Given the description of an element on the screen output the (x, y) to click on. 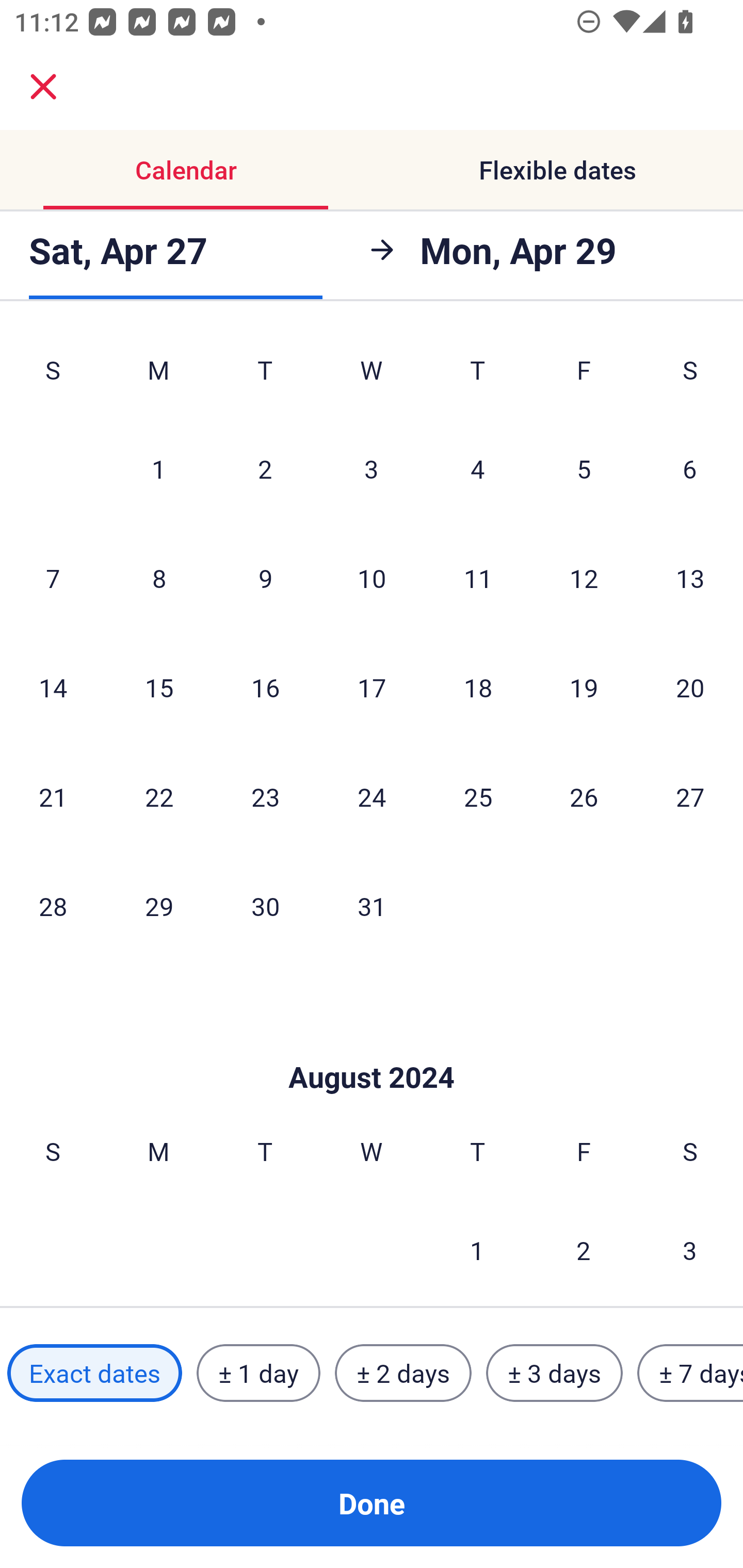
close. (43, 86)
Flexible dates (557, 170)
1 Monday, July 1, 2024 (158, 468)
2 Tuesday, July 2, 2024 (264, 468)
3 Wednesday, July 3, 2024 (371, 468)
4 Thursday, July 4, 2024 (477, 468)
5 Friday, July 5, 2024 (583, 468)
6 Saturday, July 6, 2024 (689, 468)
7 Sunday, July 7, 2024 (53, 577)
8 Monday, July 8, 2024 (159, 577)
9 Tuesday, July 9, 2024 (265, 577)
10 Wednesday, July 10, 2024 (371, 577)
11 Thursday, July 11, 2024 (477, 577)
12 Friday, July 12, 2024 (584, 577)
13 Saturday, July 13, 2024 (690, 577)
14 Sunday, July 14, 2024 (53, 687)
15 Monday, July 15, 2024 (159, 687)
16 Tuesday, July 16, 2024 (265, 687)
17 Wednesday, July 17, 2024 (371, 687)
18 Thursday, July 18, 2024 (477, 687)
19 Friday, July 19, 2024 (584, 687)
20 Saturday, July 20, 2024 (690, 687)
21 Sunday, July 21, 2024 (53, 796)
22 Monday, July 22, 2024 (159, 796)
23 Tuesday, July 23, 2024 (265, 796)
24 Wednesday, July 24, 2024 (371, 796)
25 Thursday, July 25, 2024 (477, 796)
26 Friday, July 26, 2024 (584, 796)
27 Saturday, July 27, 2024 (690, 796)
28 Sunday, July 28, 2024 (53, 905)
29 Monday, July 29, 2024 (159, 905)
30 Tuesday, July 30, 2024 (265, 905)
31 Wednesday, July 31, 2024 (371, 905)
Skip to Done (371, 1046)
1 Thursday, August 1, 2024 (477, 1249)
2 Friday, August 2, 2024 (583, 1249)
3 Saturday, August 3, 2024 (689, 1249)
Exact dates (94, 1372)
± 1 day (258, 1372)
± 2 days (403, 1372)
± 3 days (553, 1372)
± 7 days (690, 1372)
Done (371, 1502)
